Given the description of an element on the screen output the (x, y) to click on. 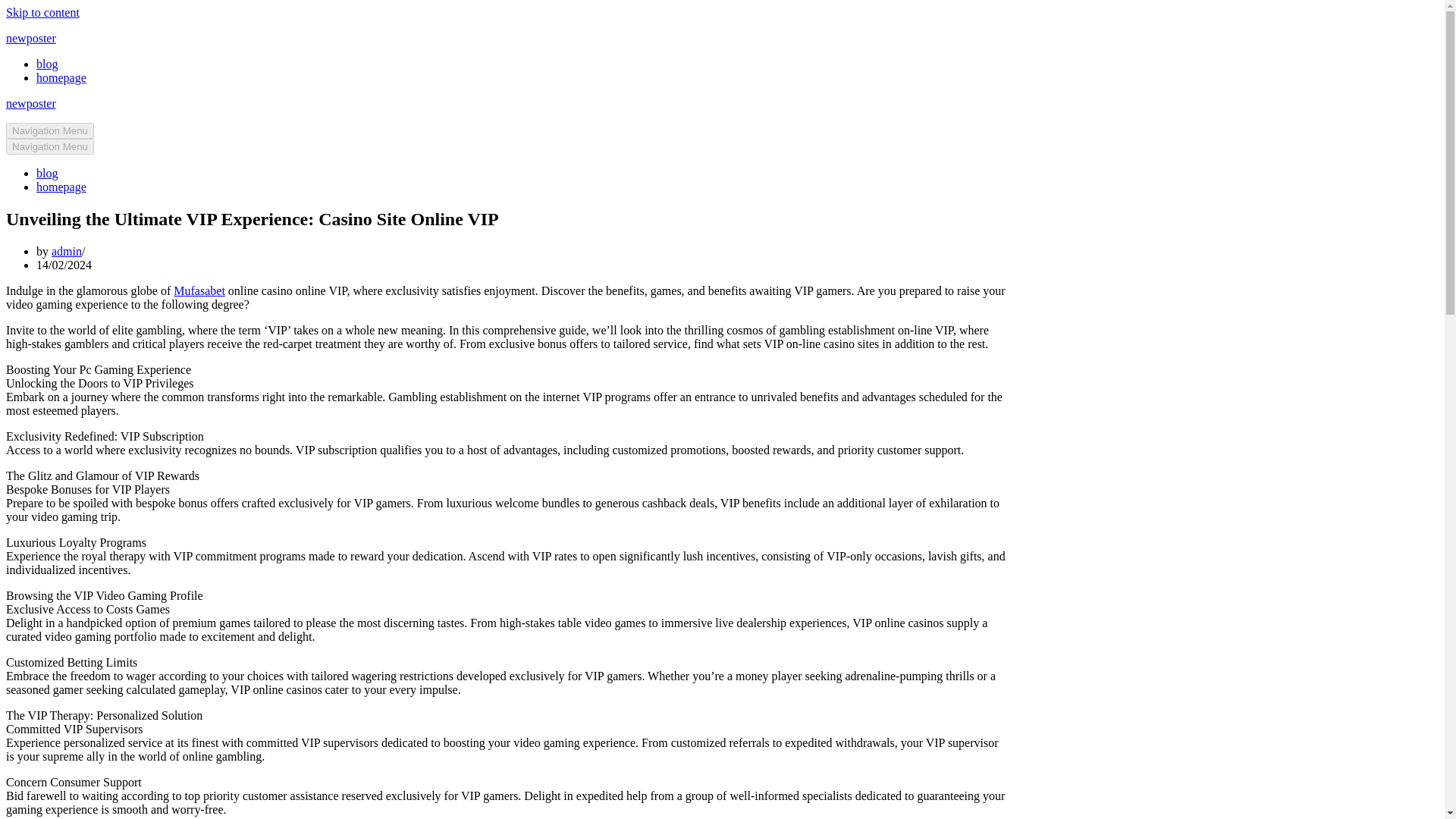
homepage (60, 186)
Mufasabet (199, 290)
Posts by admin (65, 250)
Navigation Menu (49, 130)
blog (47, 173)
admin (65, 250)
homepage (60, 77)
blog (47, 63)
Navigation Menu (49, 146)
Skip to content (42, 11)
